Given the description of an element on the screen output the (x, y) to click on. 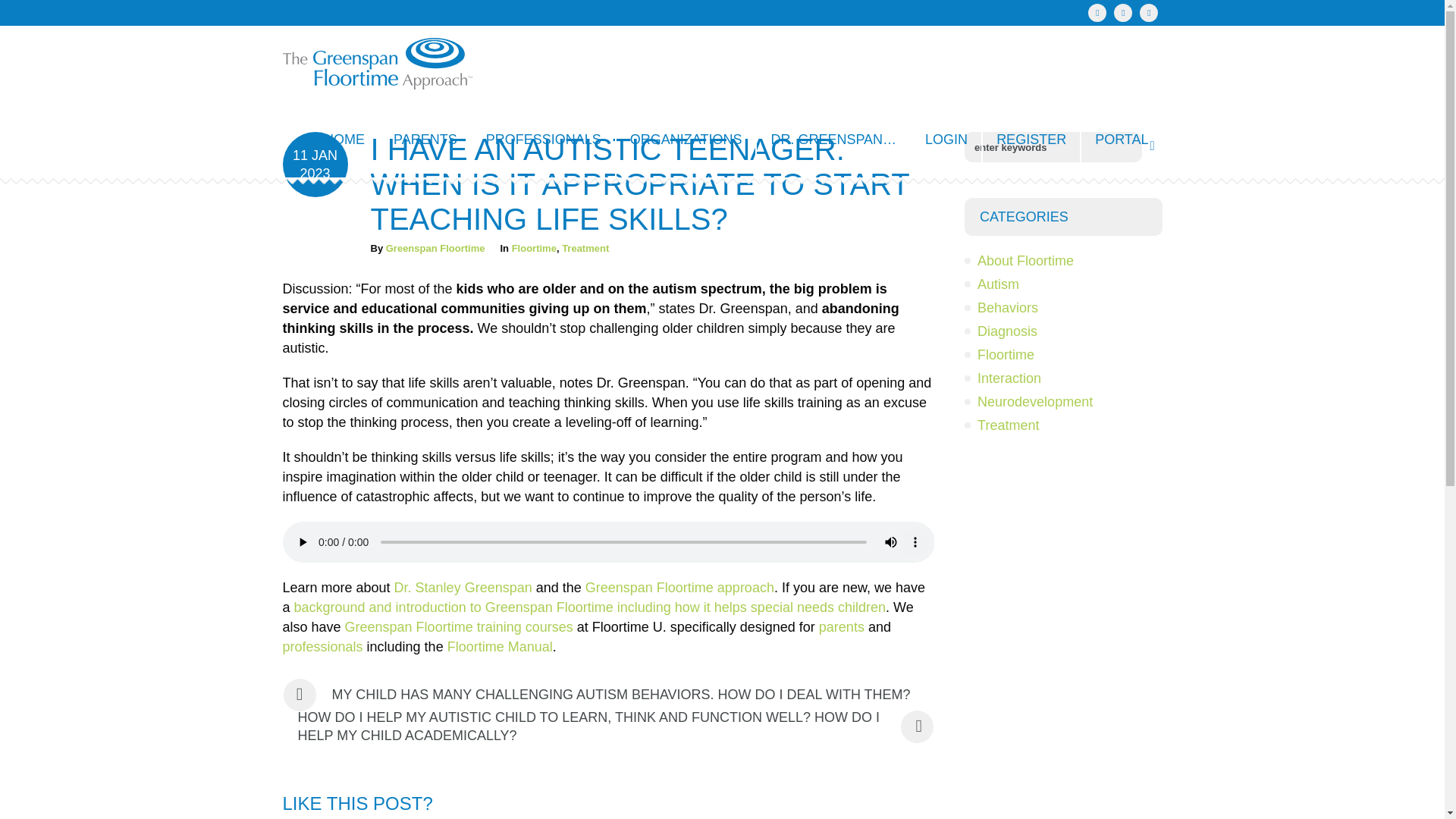
REGISTER (1031, 139)
HOME (345, 139)
PORTAL (1121, 139)
Posts by Greenspan Floortime (434, 247)
LOGIN (946, 139)
PARENTS (425, 139)
ORGANIZATIONS (686, 139)
PROFESSIONALS (543, 139)
Greenspan Floortime (434, 247)
January 11, 2023 (314, 164)
Treatment (585, 247)
Facebook (1096, 13)
YouTube (1122, 13)
Floortime (534, 247)
Dr. Stanley Greenspan (463, 587)
